Given the description of an element on the screen output the (x, y) to click on. 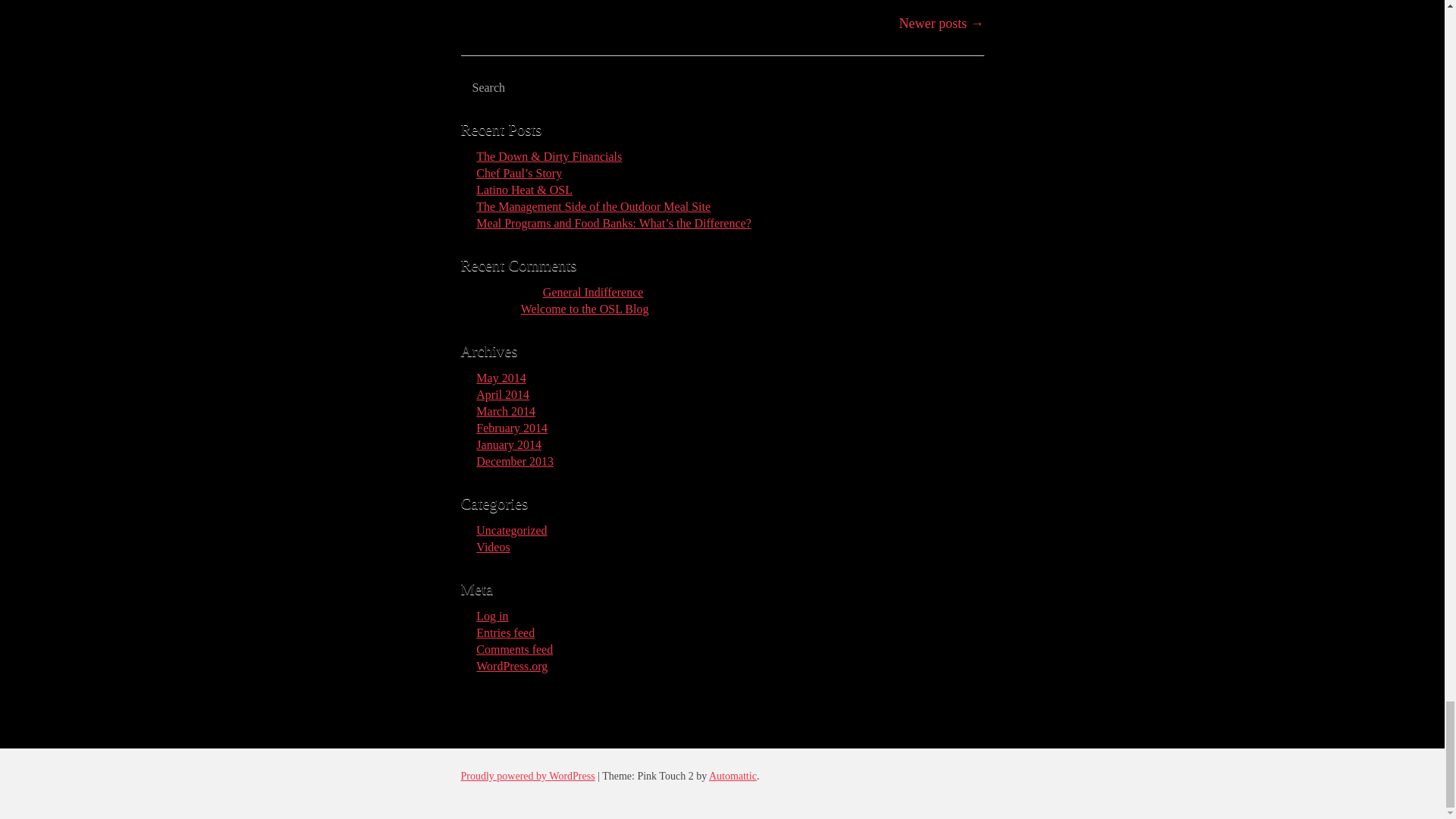
Search (530, 88)
General Indifference (593, 291)
Welcome to the OSL Blog (585, 308)
May 2014 (500, 377)
The Management Side of the Outdoor Meal Site (593, 205)
April 2014 (502, 394)
